Given the description of an element on the screen output the (x, y) to click on. 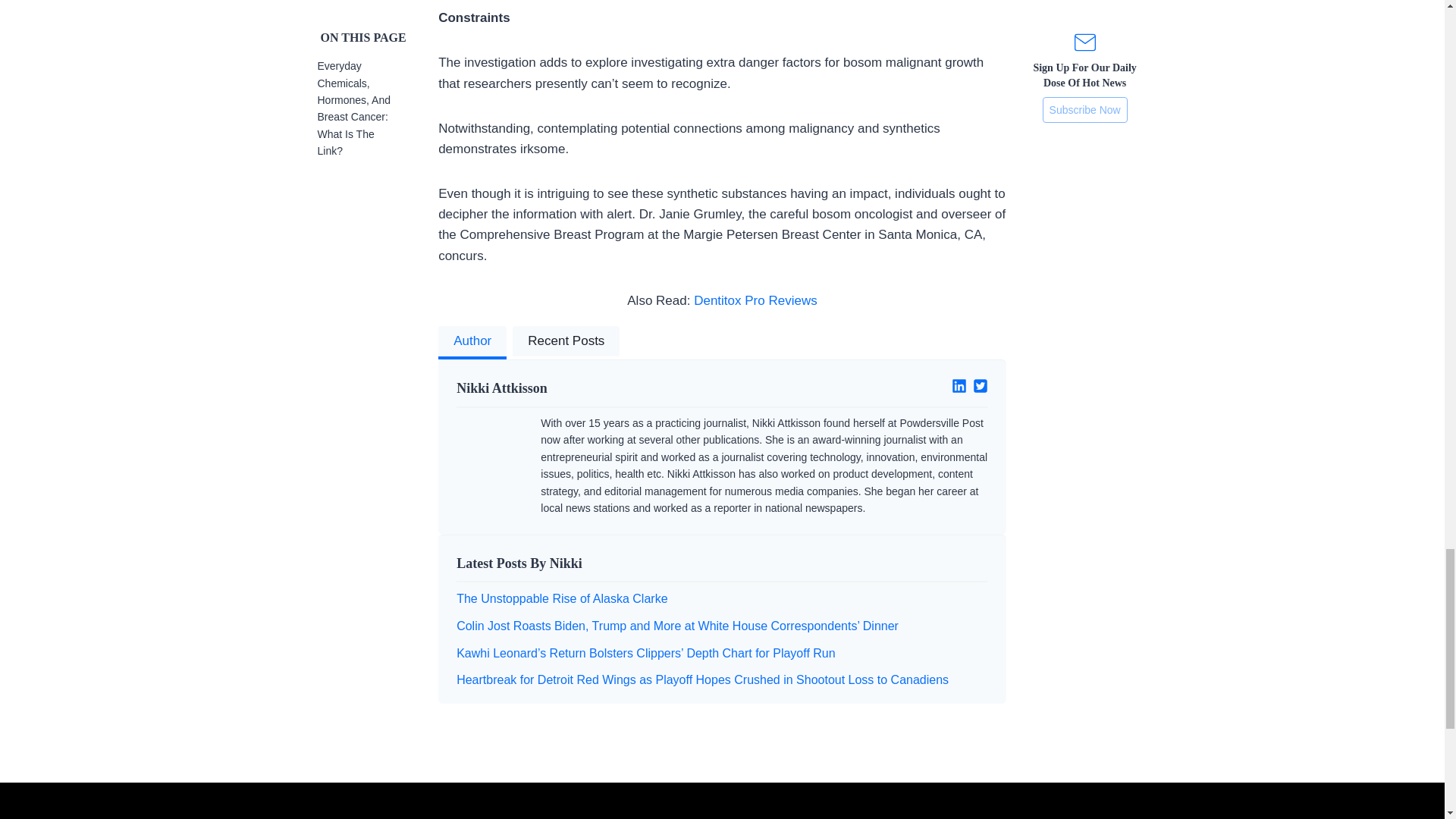
The Unstoppable Rise of Alaska Clarke (561, 598)
Dentitox Pro Reviews (755, 300)
Recent Posts (566, 342)
Author (472, 342)
Nikki Attkisson (583, 388)
